Given the description of an element on the screen output the (x, y) to click on. 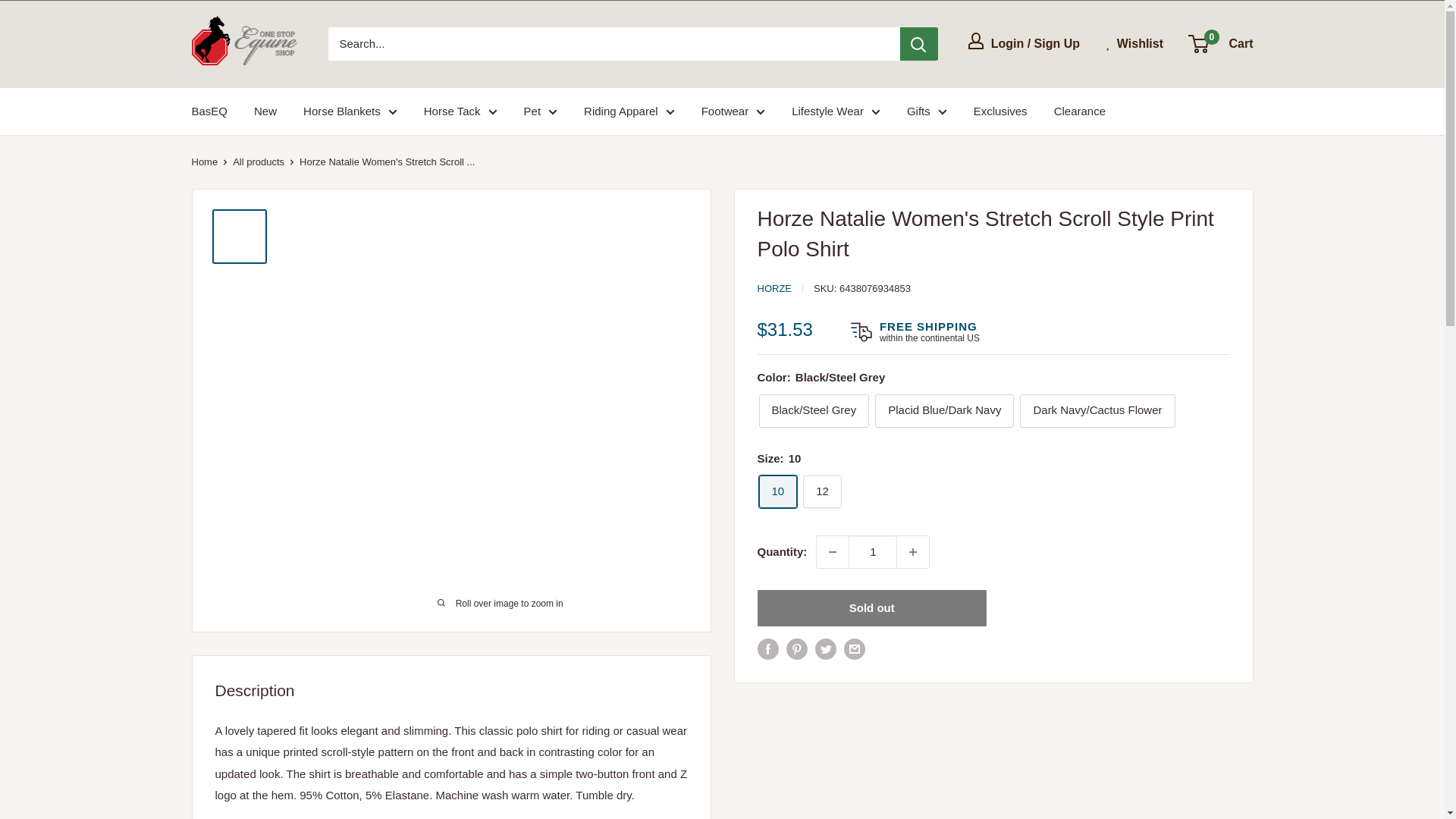
Increase quantity by 1 (912, 552)
Decrease quantity by 1 (832, 552)
1 (872, 552)
12 (822, 491)
10 (777, 491)
